Given the description of an element on the screen output the (x, y) to click on. 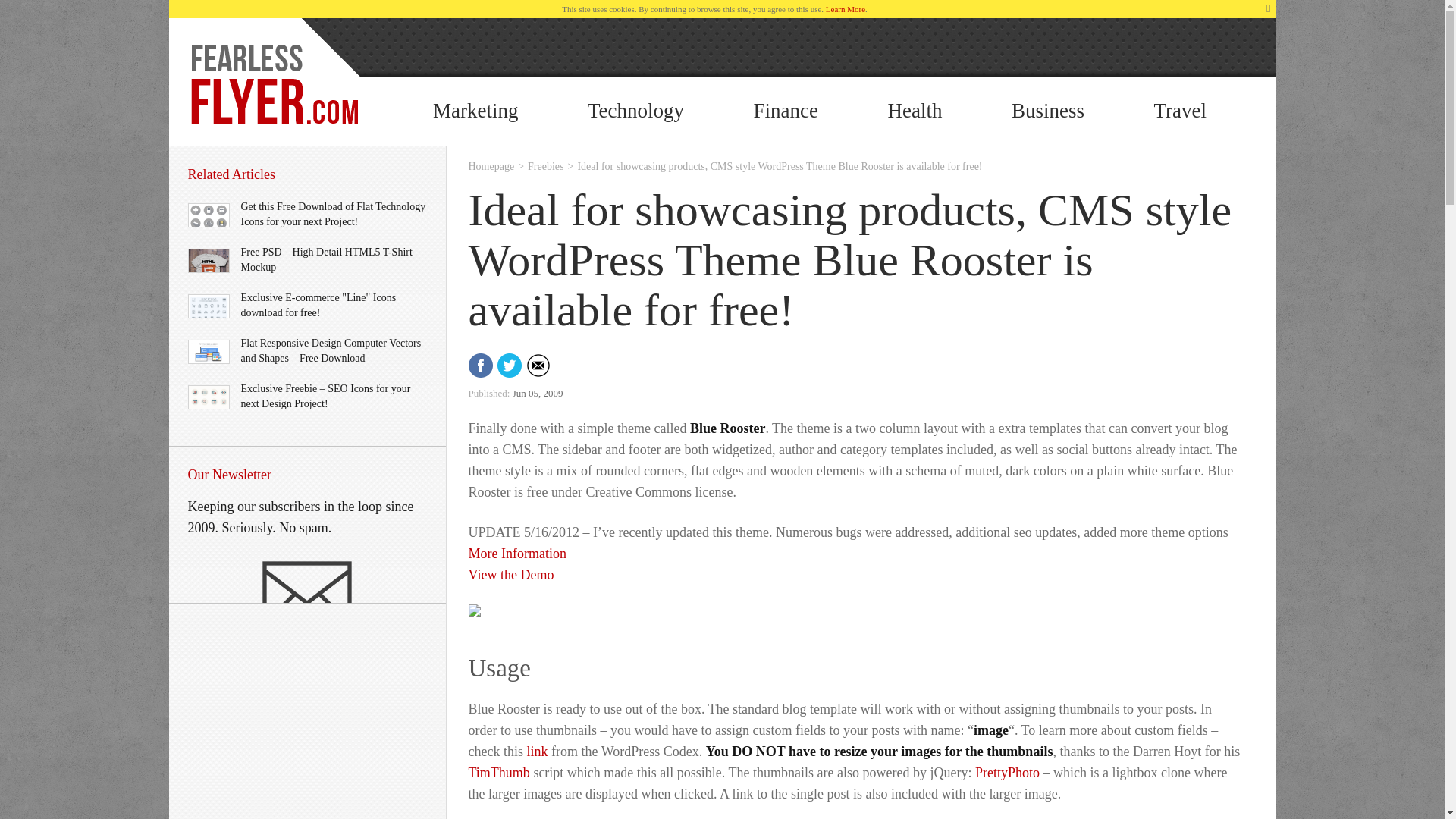
Marketing (475, 110)
Homepage (491, 165)
TimThumb (498, 773)
View the Demo (511, 575)
Technology (636, 110)
Travel (1180, 110)
Twitter (509, 364)
link (538, 751)
Business (1047, 110)
Facebook (480, 364)
Homepage (491, 165)
Freebies (545, 165)
Health (914, 110)
More Information (517, 554)
